Given the description of an element on the screen output the (x, y) to click on. 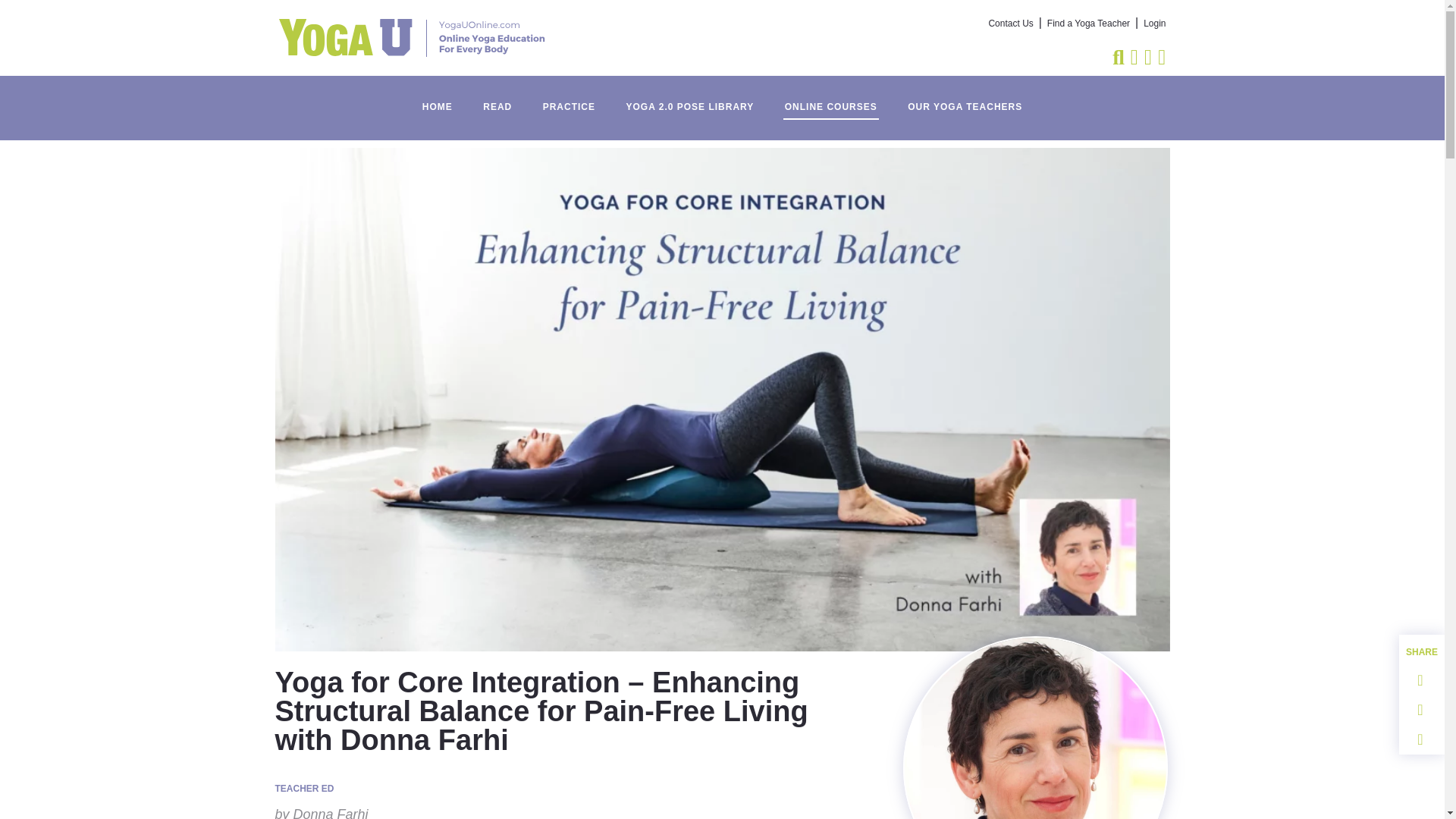
ONLINE COURSES (831, 99)
YOGA 2.0 POSE LIBRARY (689, 99)
by Donna Farhi (321, 811)
PRACTICE (568, 99)
Find a Yoga Teacher (1088, 23)
HOME (437, 99)
Contact Us (1011, 23)
READ (496, 99)
OUR YOGA TEACHERS (964, 99)
